Given the description of an element on the screen output the (x, y) to click on. 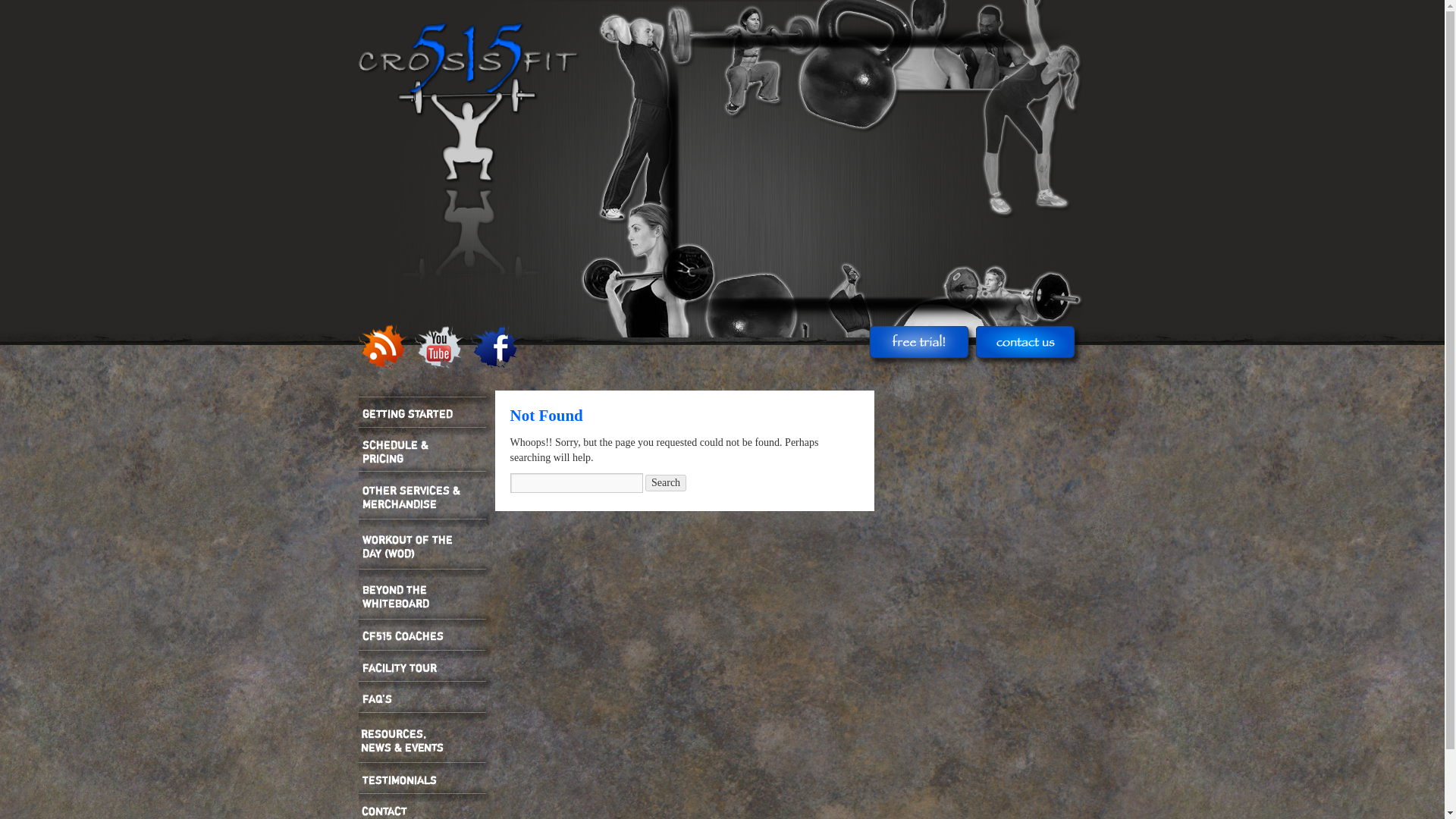
Contact Us (429, 809)
Search (665, 483)
Schedule and Pricing (429, 449)
Facility Tour (429, 666)
FAQs (429, 697)
Beyond the Whiteboard (429, 597)
Testimonials (429, 778)
Videos, Resources, News and Events (429, 740)
CF 515 Coaches (429, 635)
Other Services (429, 497)
